Given the description of an element on the screen output the (x, y) to click on. 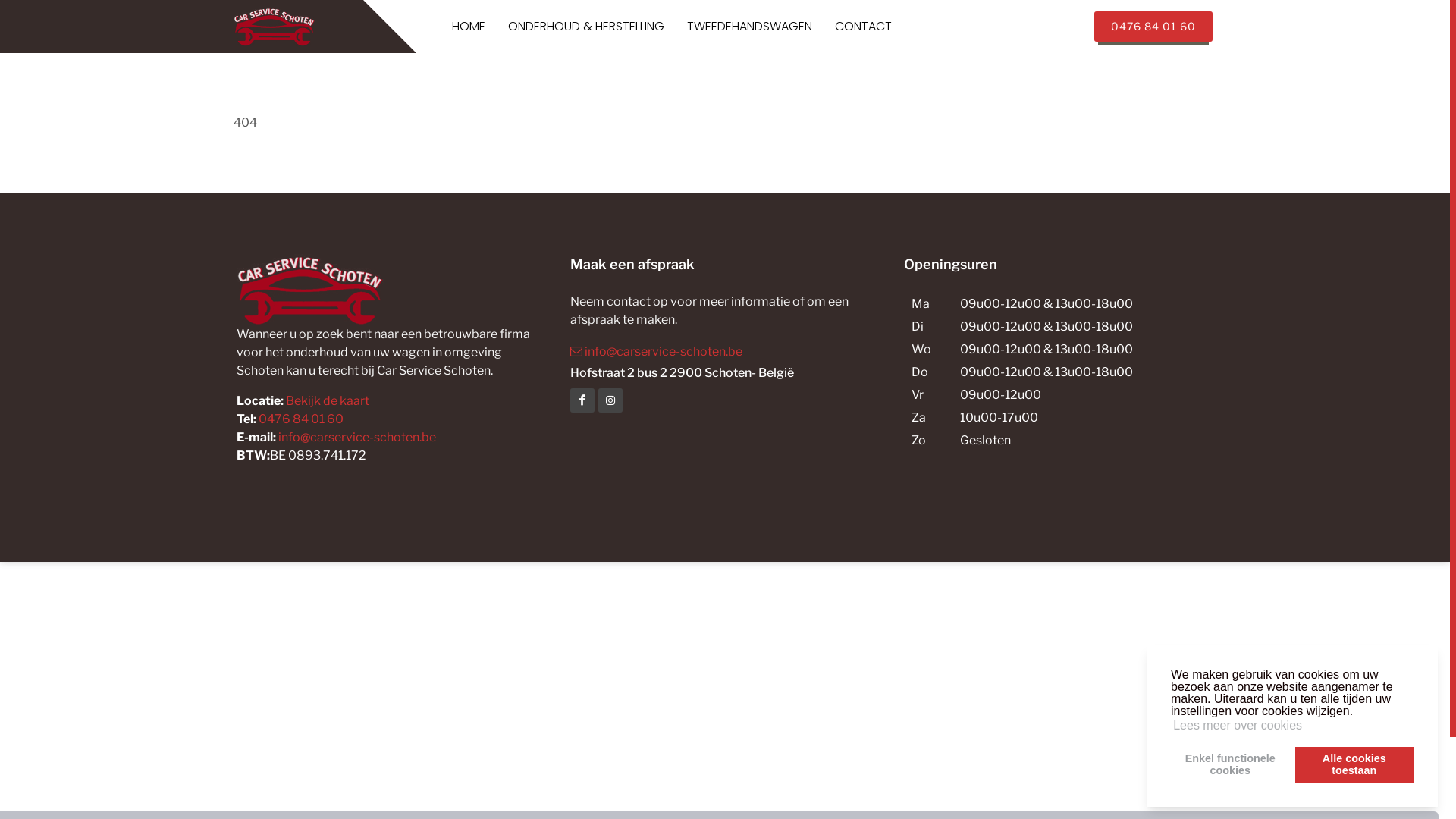
Bekijk de kaart Element type: text (326, 400)
info@carservice-schoten.be Element type: text (724, 350)
CONTACT Element type: text (863, 26)
info@carservice-schoten.be Element type: text (357, 436)
Lees meer over cookies Element type: text (1237, 725)
0476 84 01 60 Element type: text (1153, 26)
TWEEDEHANDSWAGEN Element type: text (749, 26)
Facebook Element type: hover (582, 400)
Facebook Element type: hover (610, 400)
0476 84 01 60 Element type: text (300, 418)
Enkel functionele
cookies Element type: text (1229, 764)
HOME Element type: text (468, 26)
ONDERHOUD & HERSTELLING Element type: text (585, 26)
Alle cookies
toestaan Element type: text (1354, 764)
